Given the description of an element on the screen output the (x, y) to click on. 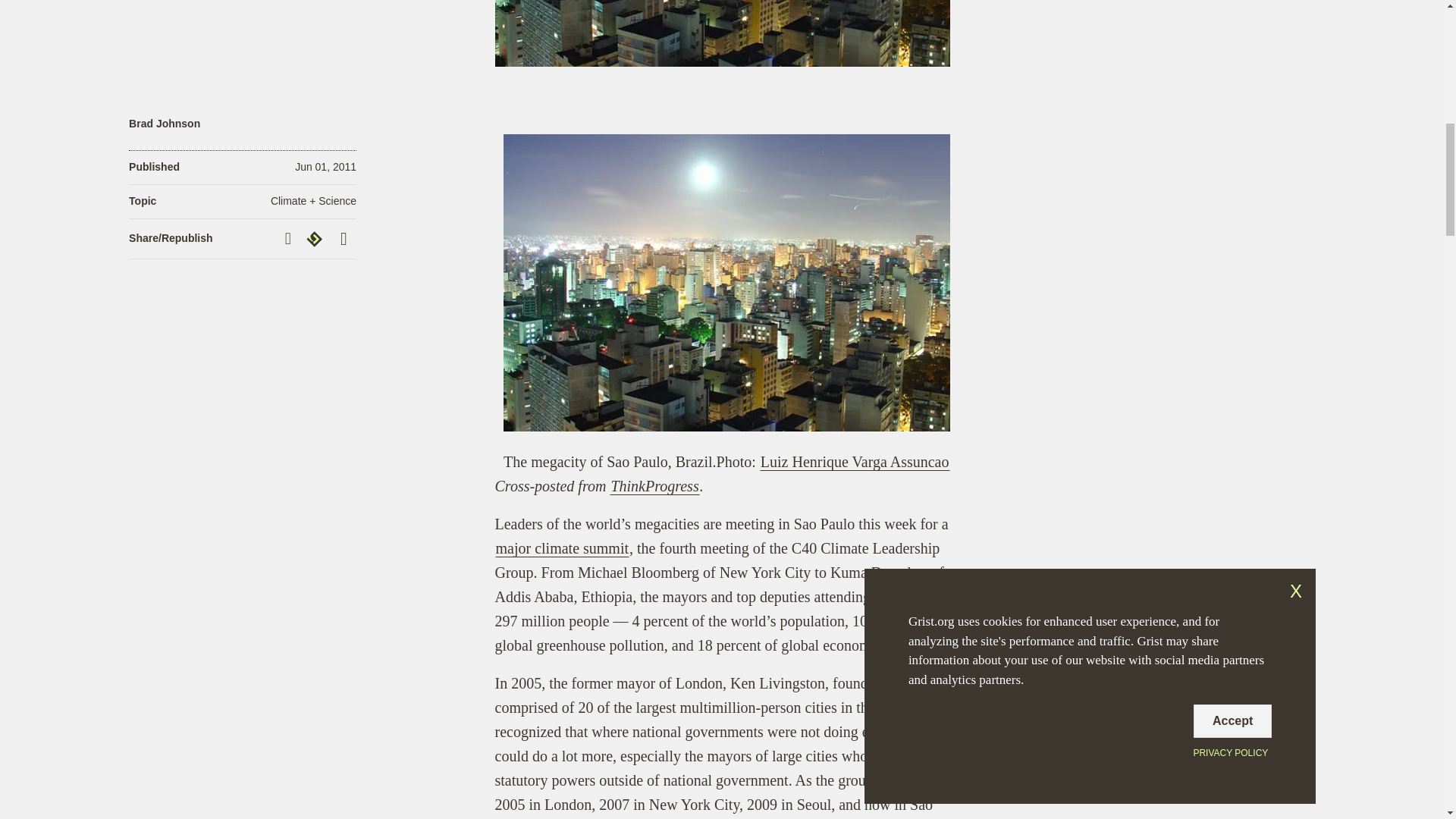
Copy article link (289, 238)
Republish the article (316, 238)
